Given the description of an element on the screen output the (x, y) to click on. 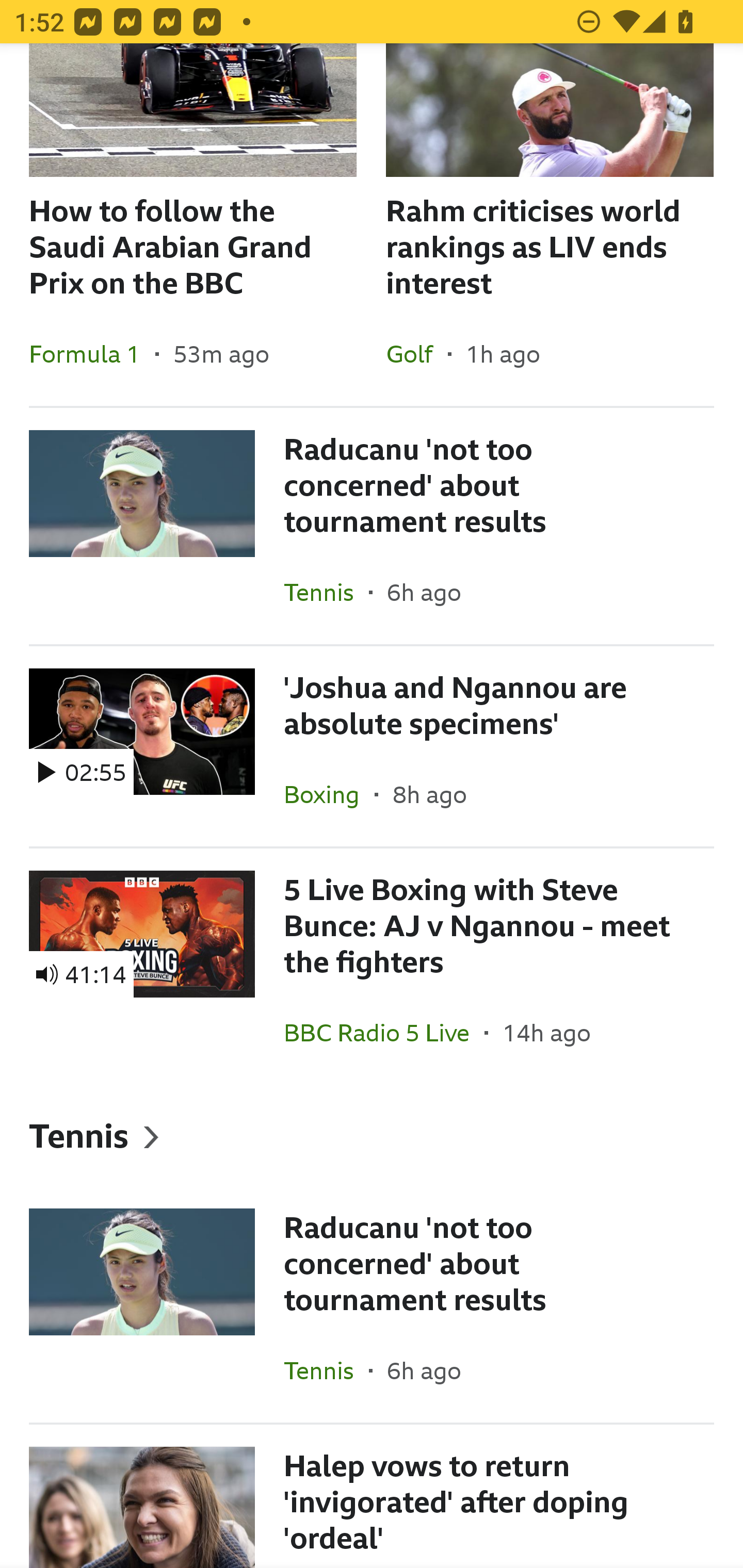
Tennis, Heading Tennis    (371, 1135)
